Given the description of an element on the screen output the (x, y) to click on. 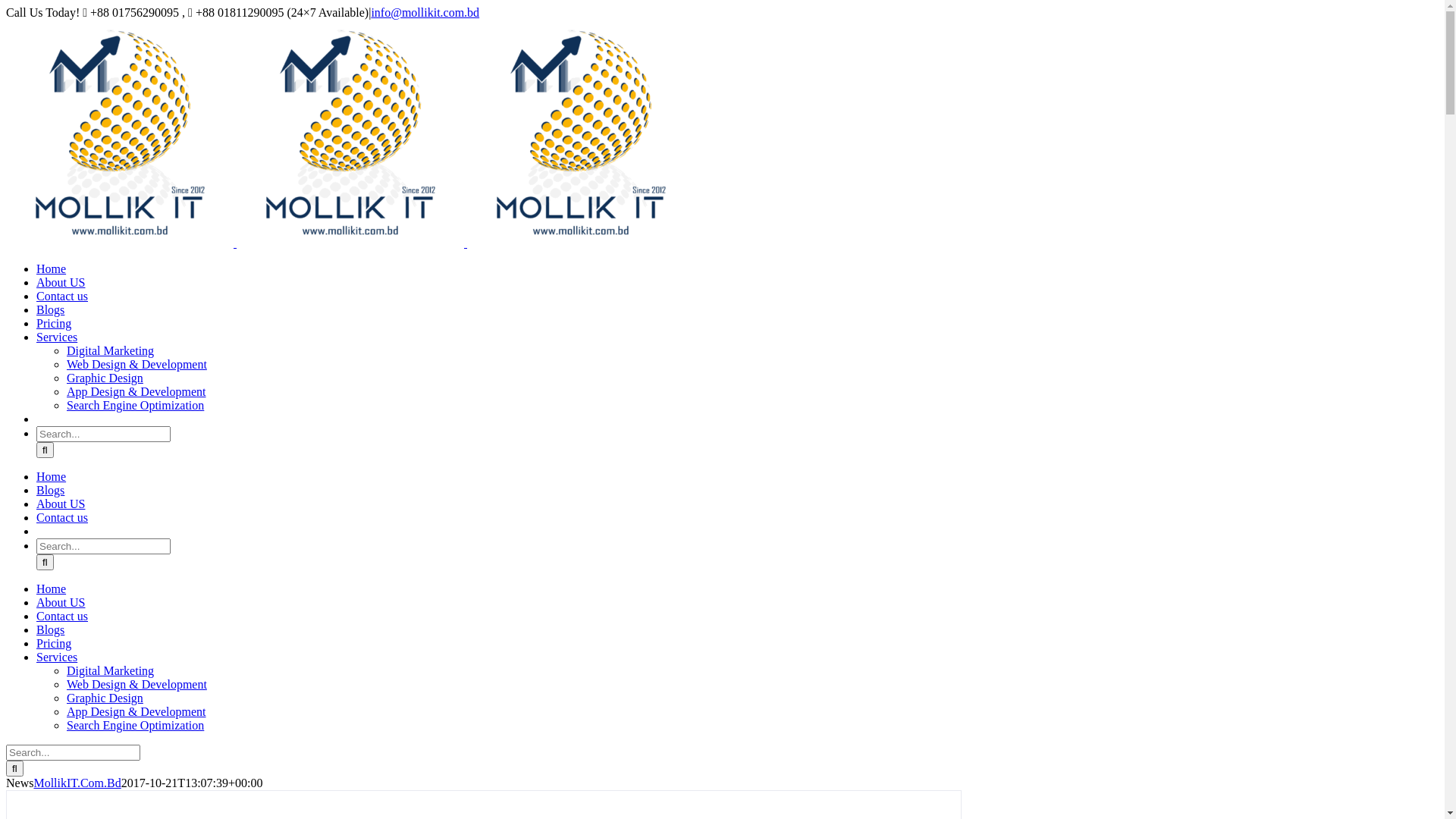
Blogs Element type: text (50, 629)
Blogs Element type: text (50, 489)
About US Element type: text (60, 503)
Contact us Element type: text (61, 615)
MollikIT.Com.Bd Element type: text (76, 782)
info@mollikit.com.bd Element type: text (424, 12)
Home Element type: text (50, 476)
Services Element type: text (56, 656)
Contact us Element type: text (61, 295)
Web Design & Development Element type: text (136, 683)
Search Engine Optimization Element type: text (134, 404)
Pricing Element type: text (53, 322)
Pricing Element type: text (53, 643)
Blogs Element type: text (50, 309)
Search Engine Optimization Element type: text (134, 724)
Home Element type: text (50, 588)
Services Element type: text (56, 336)
App Design & Development Element type: text (136, 391)
Skip to content Element type: text (5, 5)
About US Element type: text (60, 602)
About US Element type: text (60, 282)
Web Design & Development Element type: text (136, 363)
Graphic Design Element type: text (104, 377)
Graphic Design Element type: text (104, 697)
App Design & Development Element type: text (136, 711)
Digital Marketing Element type: text (109, 350)
Home Element type: text (50, 268)
Digital Marketing Element type: text (109, 670)
Contact us Element type: text (61, 517)
